Given the description of an element on the screen output the (x, y) to click on. 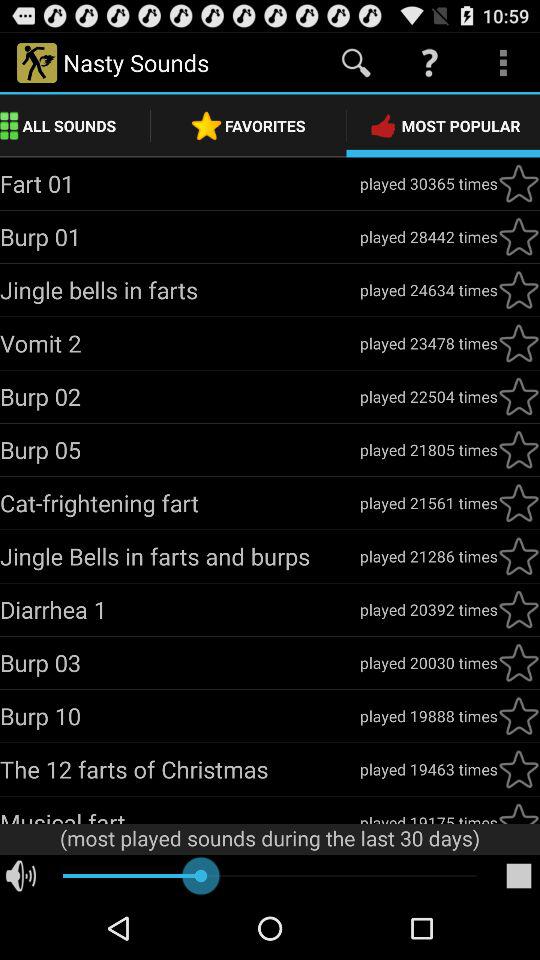
star (519, 556)
